Given the description of an element on the screen output the (x, y) to click on. 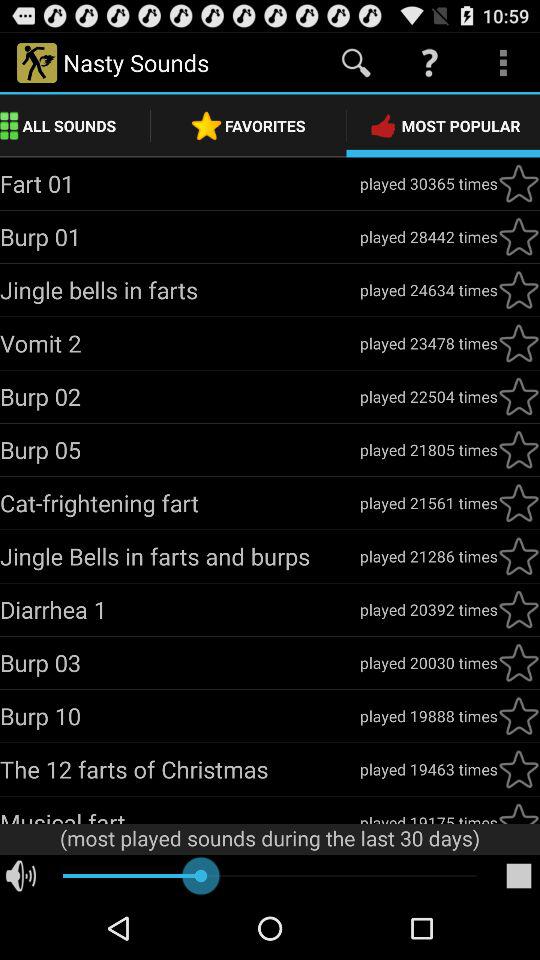
star (519, 556)
